Given the description of an element on the screen output the (x, y) to click on. 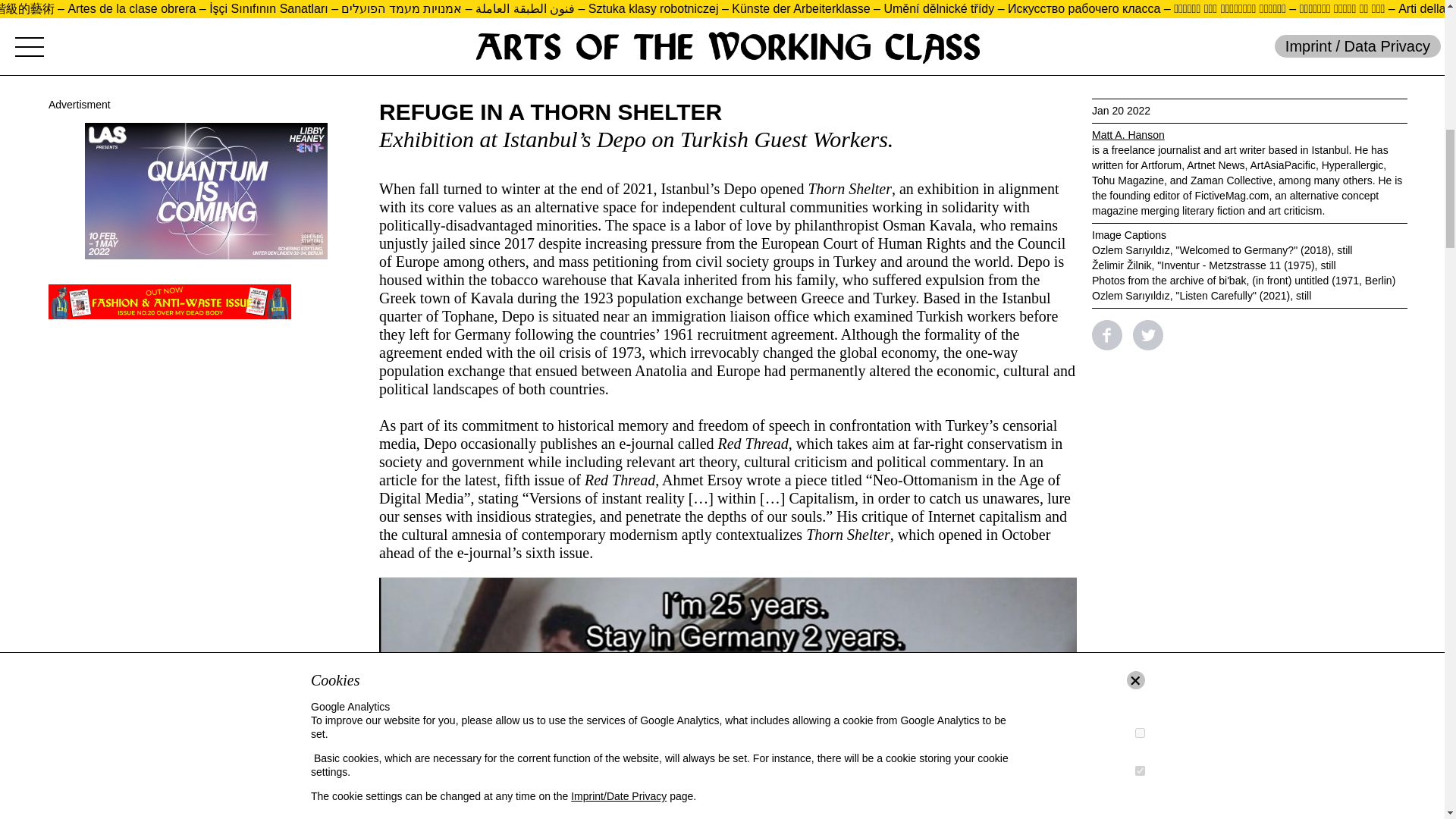
LAS (205, 190)
Matt A. Hanson (1128, 134)
OMDB (169, 301)
